Given the description of an element on the screen output the (x, y) to click on. 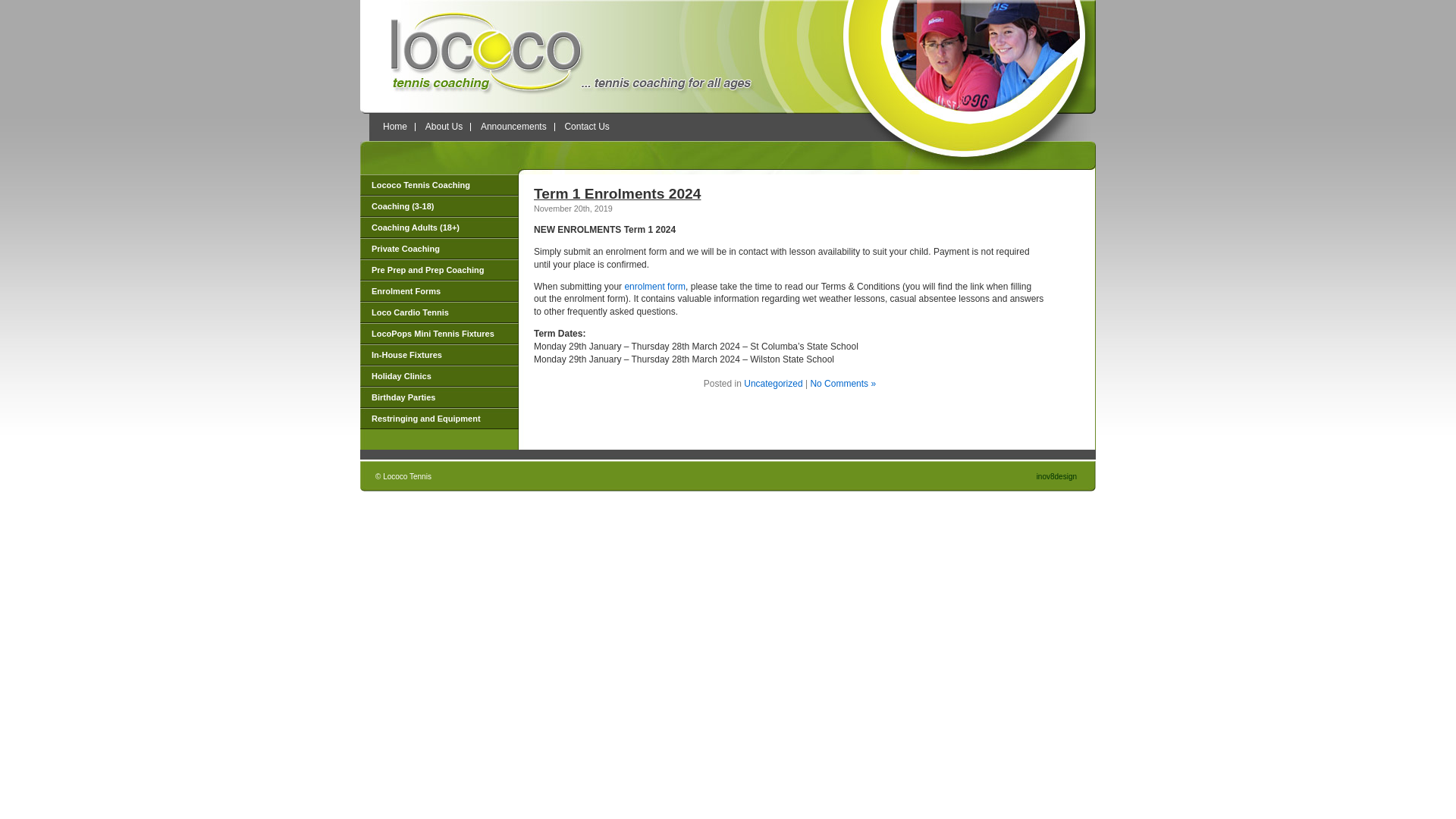
In-House Fixtures Element type: text (439, 354)
Private Coaching Element type: text (439, 248)
Home Element type: text (394, 126)
Contact Us Element type: text (586, 126)
Announcements Element type: text (513, 126)
Coaching Adults (18+) Element type: text (439, 227)
LocoPops Mini Tennis Fixtures Element type: text (439, 333)
Restringing and Equipment Element type: text (439, 418)
About Us Element type: text (443, 126)
Loco Cardio Tennis Element type: text (439, 312)
Enrolment Forms Element type: text (439, 290)
Coaching (3-18) Element type: text (439, 205)
inov8design Element type: text (1056, 476)
enrolment form Element type: text (654, 286)
Lococo Tennis Coaching Element type: text (439, 184)
Term 1 Enrolments 2024 Element type: text (616, 193)
Pre Prep and Prep Coaching Element type: text (439, 269)
Birthday Parties Element type: text (439, 396)
Holiday Clinics Element type: text (439, 375)
Uncategorized Element type: text (772, 383)
